Given the description of an element on the screen output the (x, y) to click on. 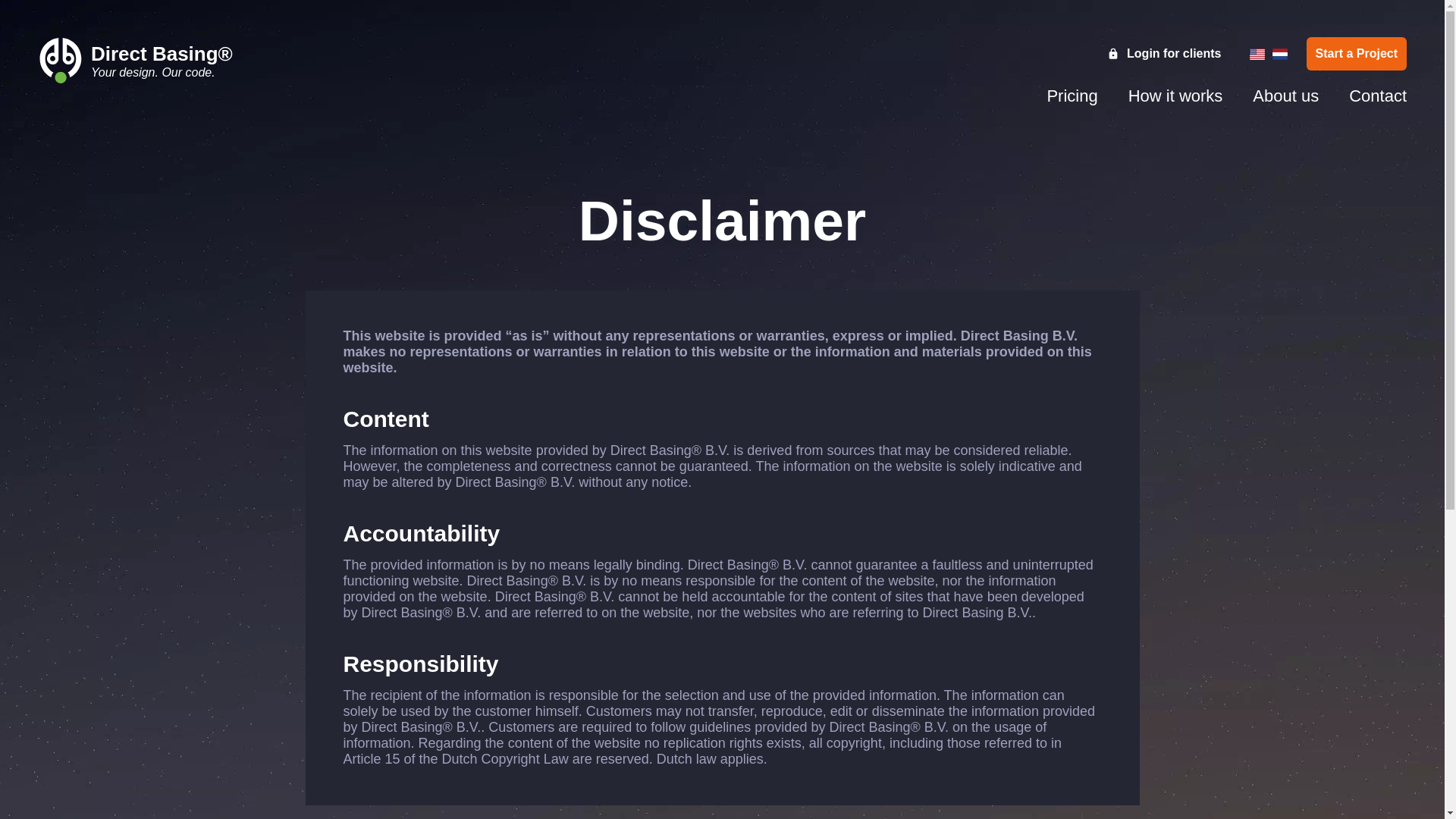
Pricing (1071, 95)
Start a Project (1356, 53)
About us (1285, 95)
Contact (1226, 95)
How it works (1377, 95)
Login for clients (1175, 95)
